Given the description of an element on the screen output the (x, y) to click on. 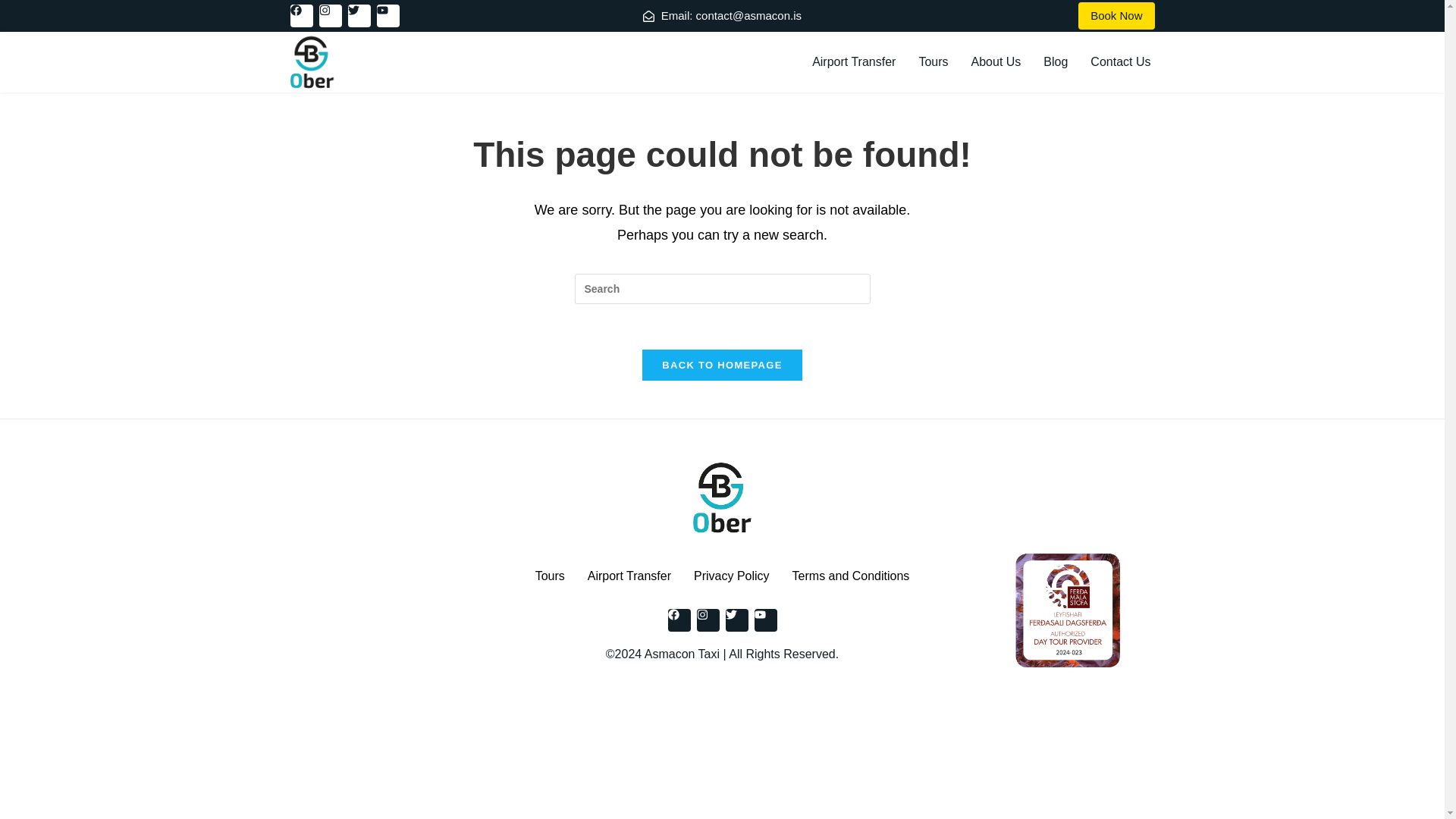
Blog (1055, 62)
Airport Transfer (629, 575)
Tours (550, 575)
Tours (933, 62)
Airport Transfer (853, 62)
About Us (995, 62)
Privacy Policy (731, 575)
Contact Us (1119, 62)
Terms and Conditions (850, 575)
Book Now (1116, 15)
BACK TO HOMEPAGE (722, 364)
